Given the description of an element on the screen output the (x, y) to click on. 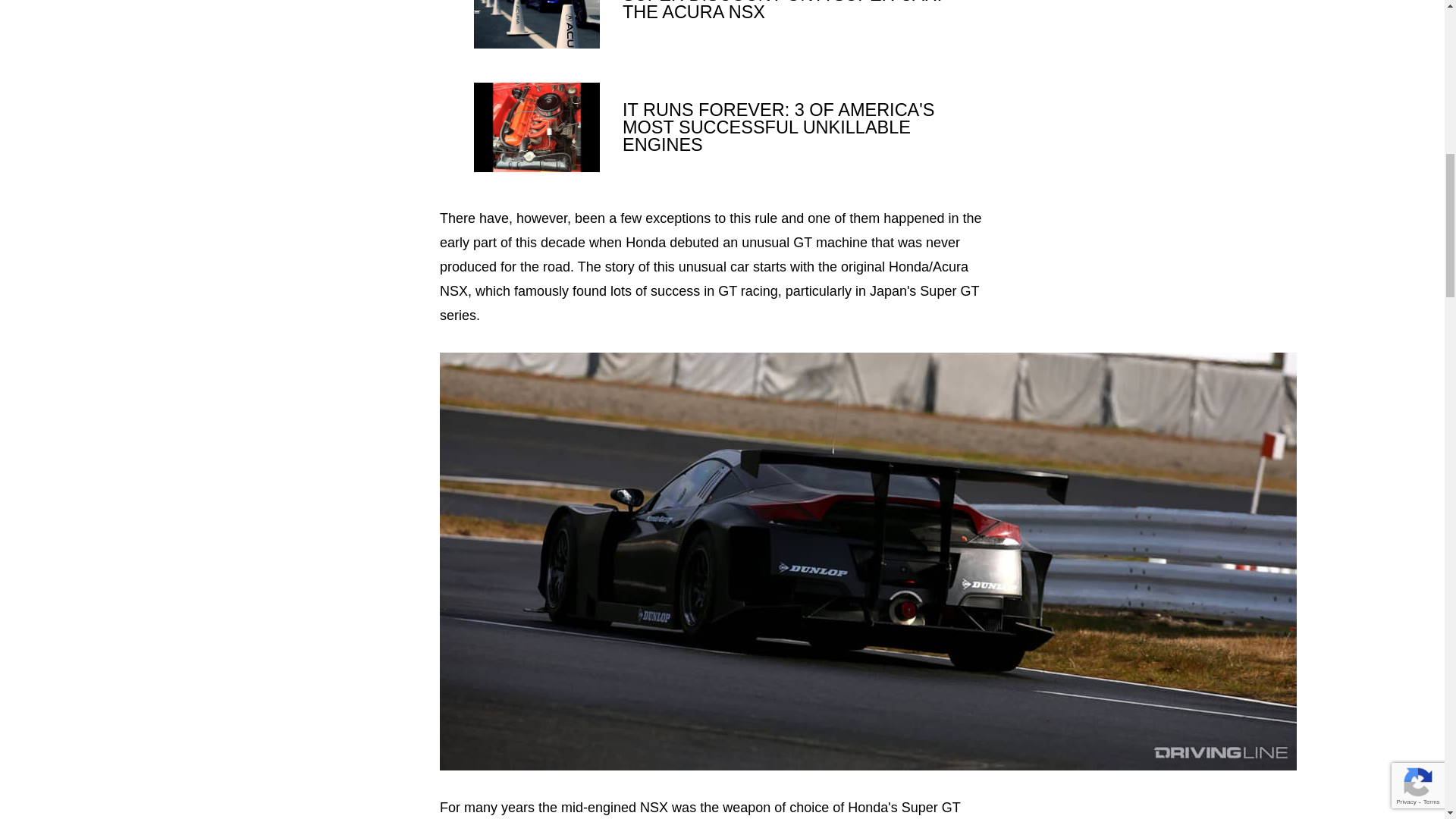
SUPER DISCOUNT ON A SUPER CAR: THE ACURA NSX (716, 24)
